Given the description of an element on the screen output the (x, y) to click on. 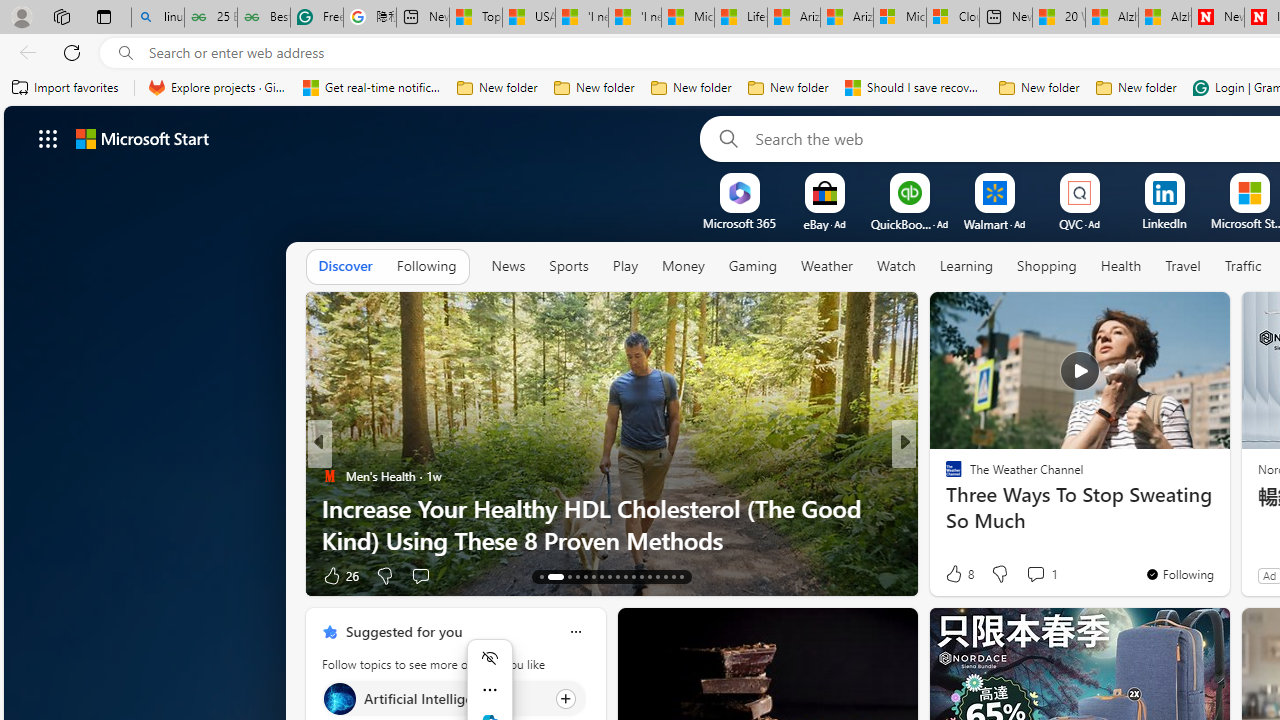
App launcher (47, 138)
View comments 2 Comment (1028, 575)
Sports (569, 267)
